Given the description of an element on the screen output the (x, y) to click on. 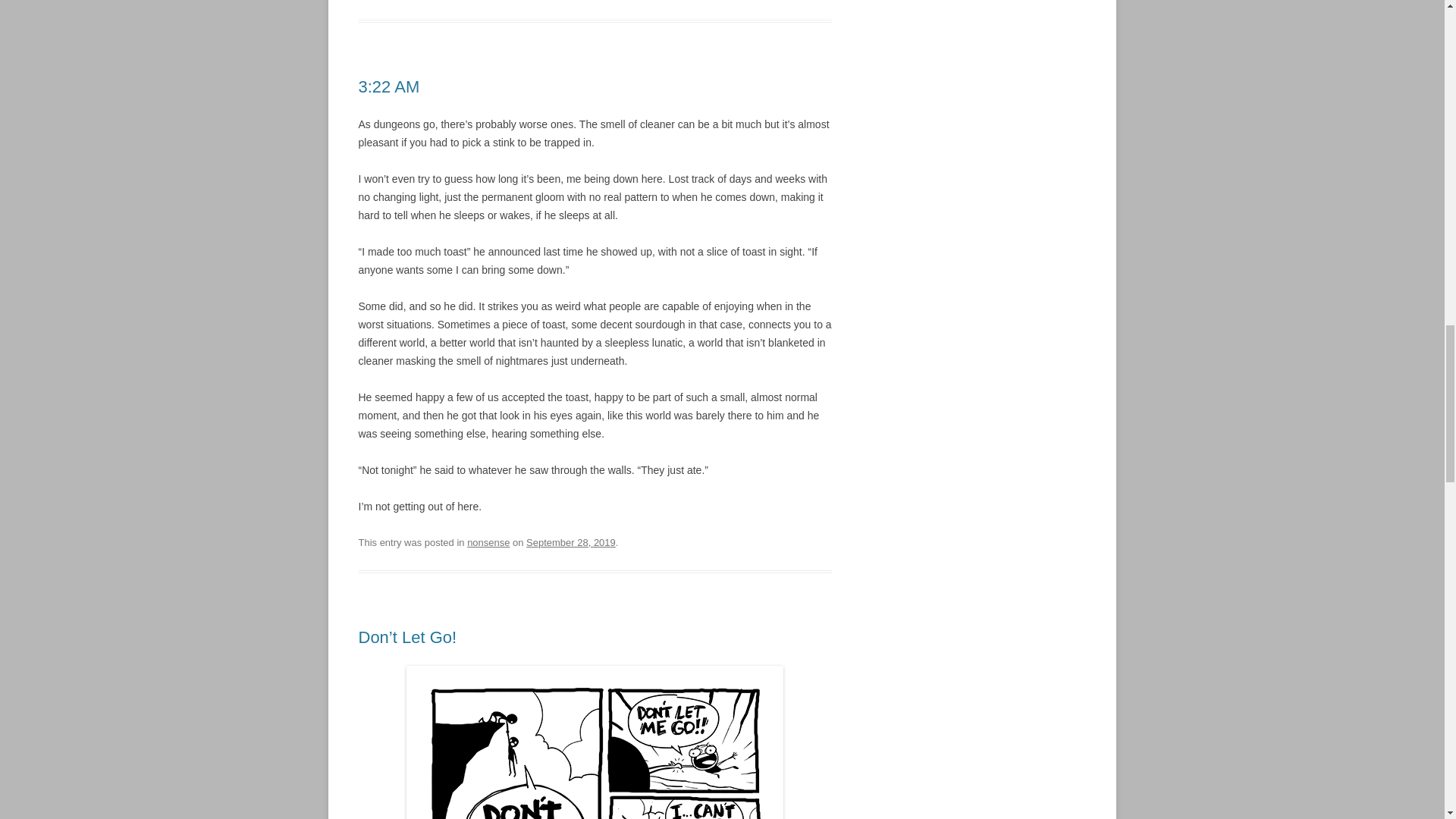
Permalink to 3:22 AM (388, 86)
3:22 AM (388, 86)
3:39 am (570, 542)
September 28, 2019 (570, 542)
nonsense (488, 542)
